Given the description of an element on the screen output the (x, y) to click on. 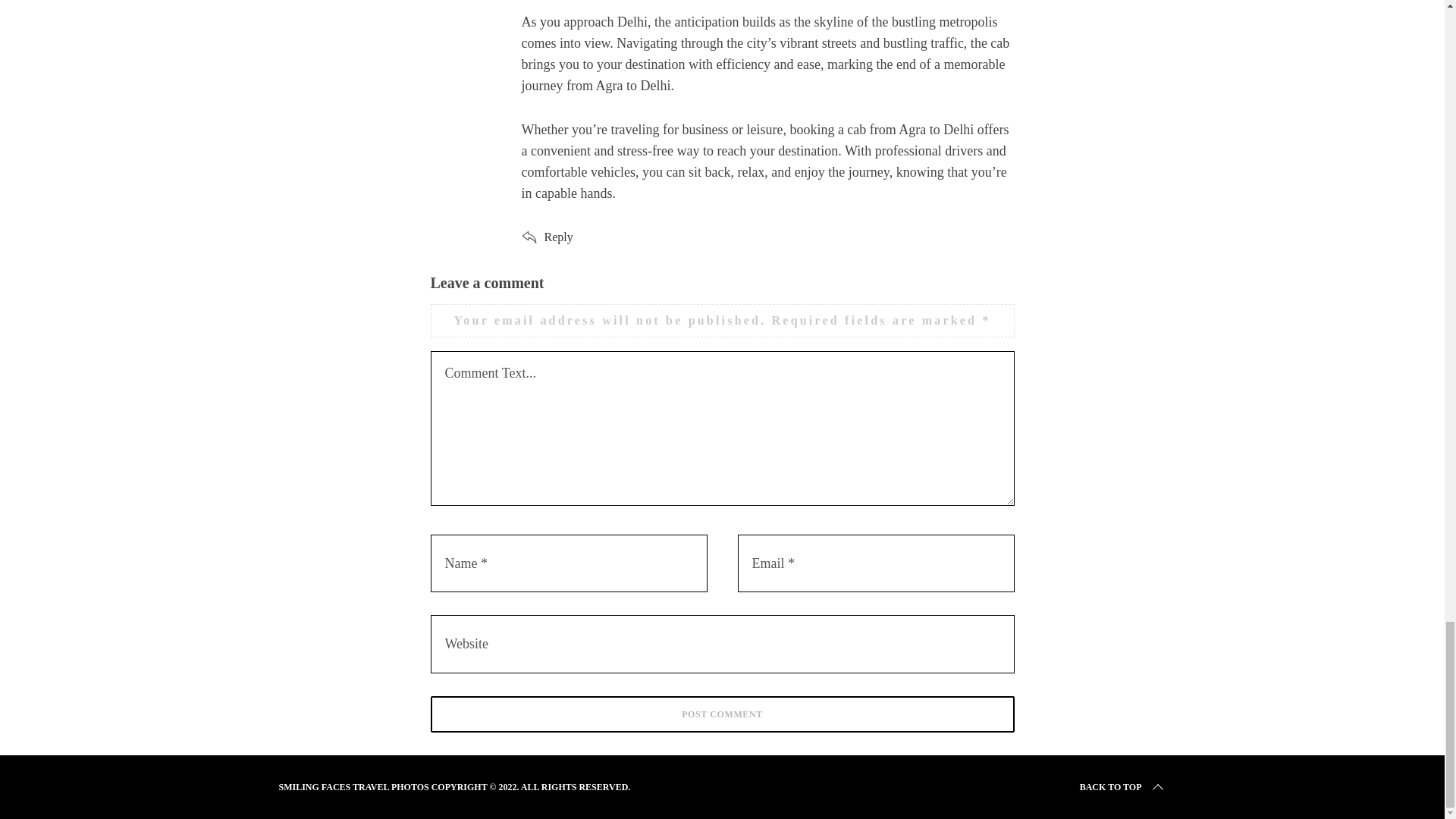
Post Comment (722, 714)
BACK TO TOP (1123, 787)
Post Comment (722, 714)
Reply (558, 237)
